Given the description of an element on the screen output the (x, y) to click on. 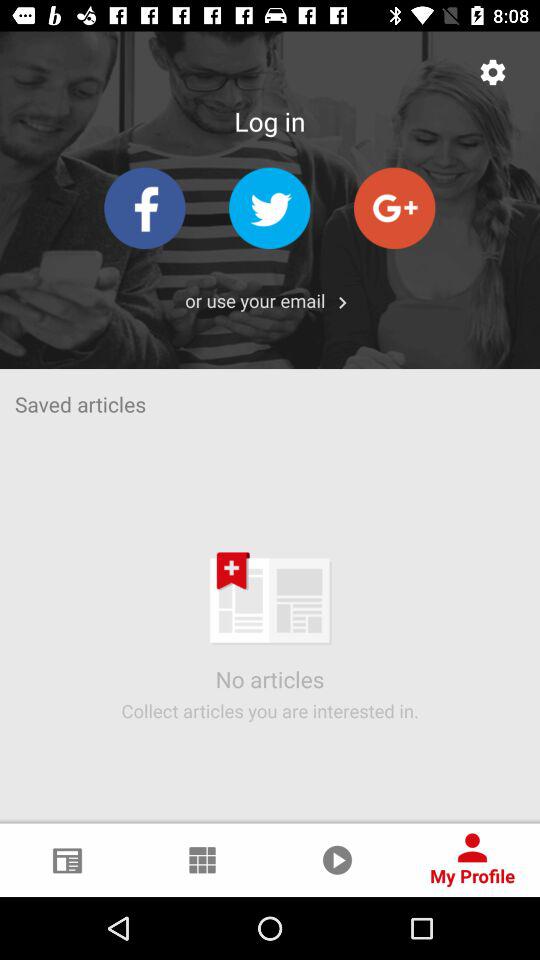
share to google+ (394, 208)
